Given the description of an element on the screen output the (x, y) to click on. 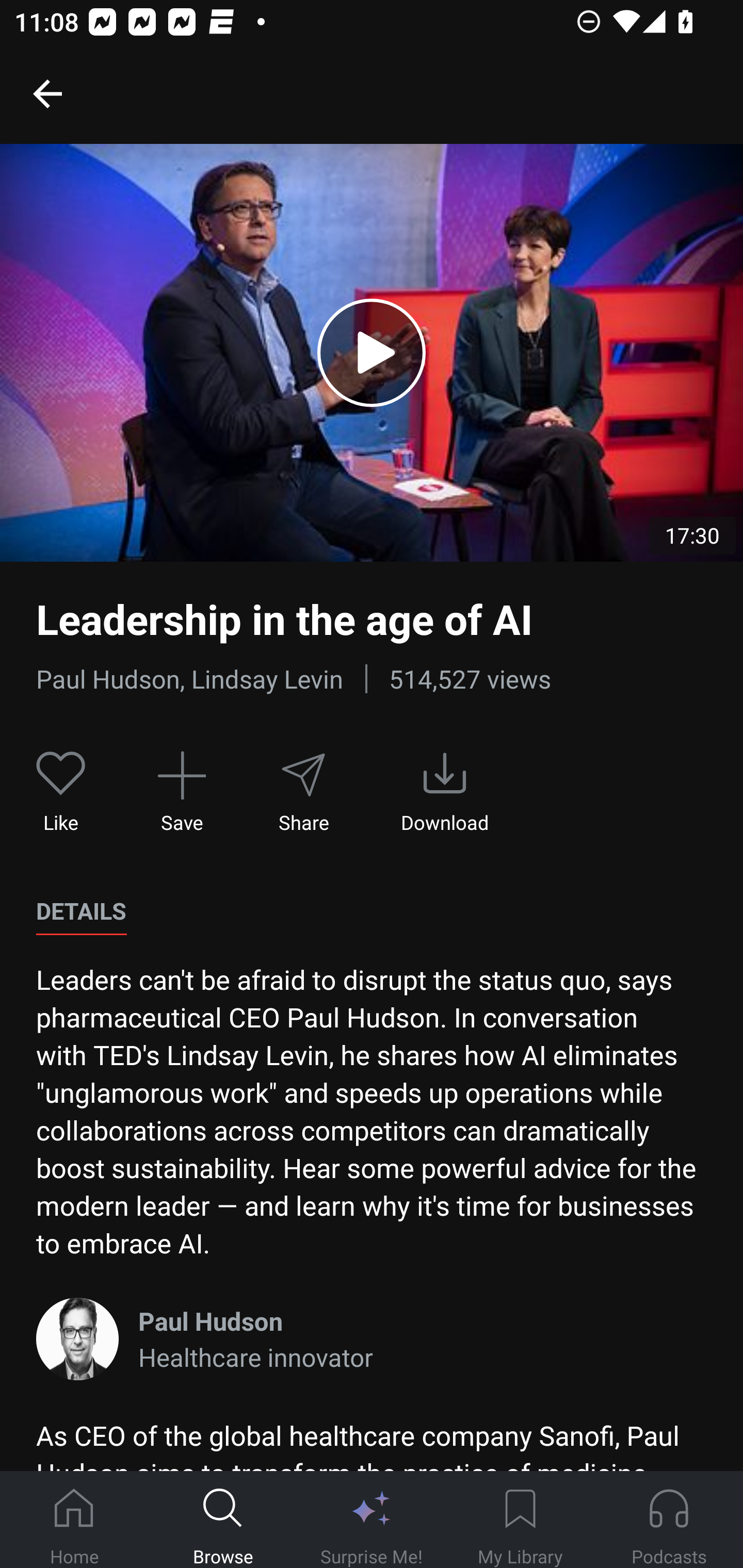
Search, back (47, 92)
Like (60, 793)
Save (181, 793)
Share (302, 793)
Download (444, 793)
DETAILS (80, 911)
Home (74, 1520)
Browse (222, 1520)
Surprise Me! (371, 1520)
My Library (519, 1520)
Podcasts (668, 1520)
